Given the description of an element on the screen output the (x, y) to click on. 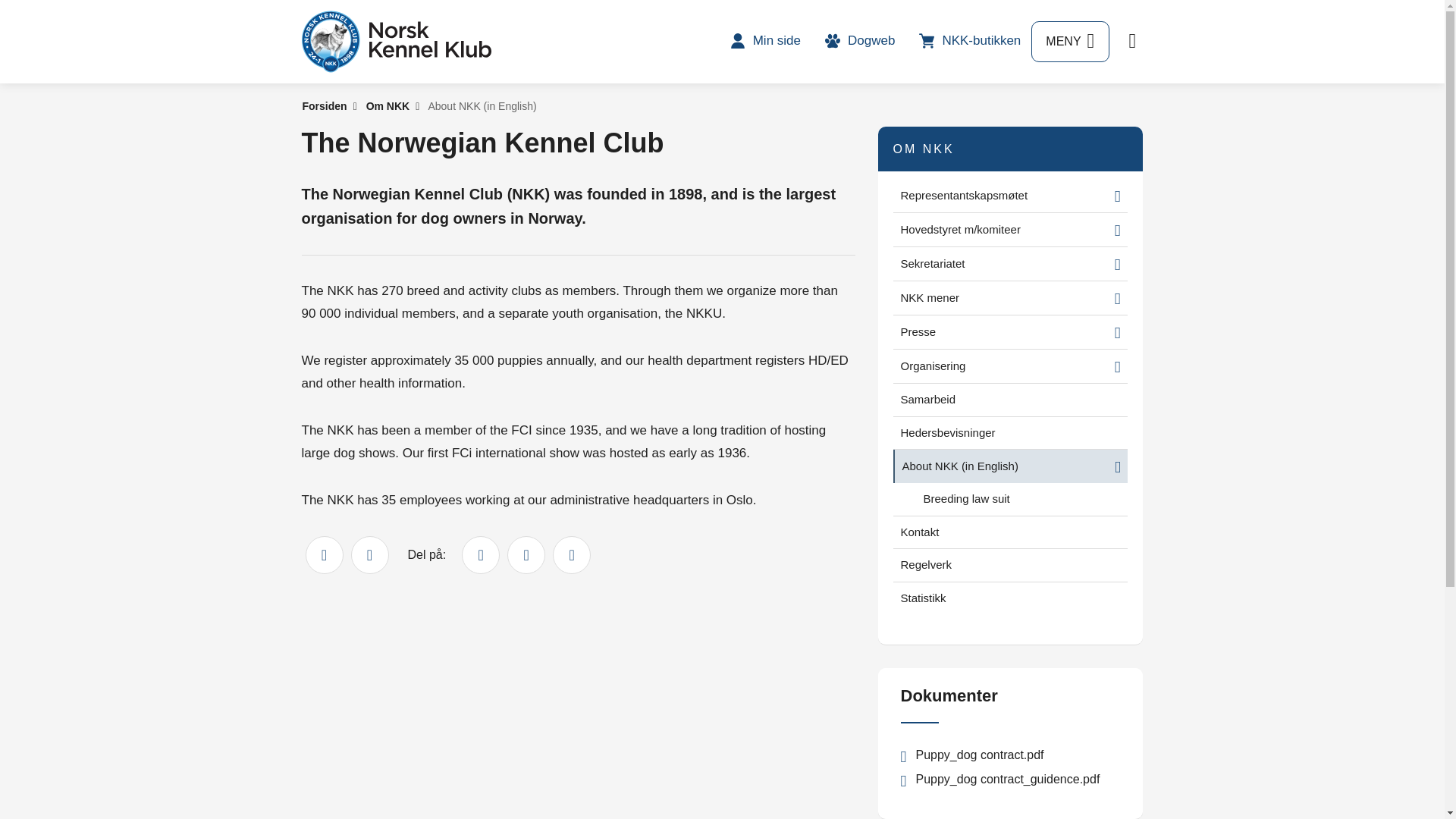
Tips en venn (369, 555)
MENY (1069, 42)
Skriv ut (323, 555)
Forsiden (323, 105)
OM NKK (924, 148)
Min side (764, 40)
NKK-butikken (969, 40)
Dogweb (859, 40)
Om NKK (388, 105)
